Given the description of an element on the screen output the (x, y) to click on. 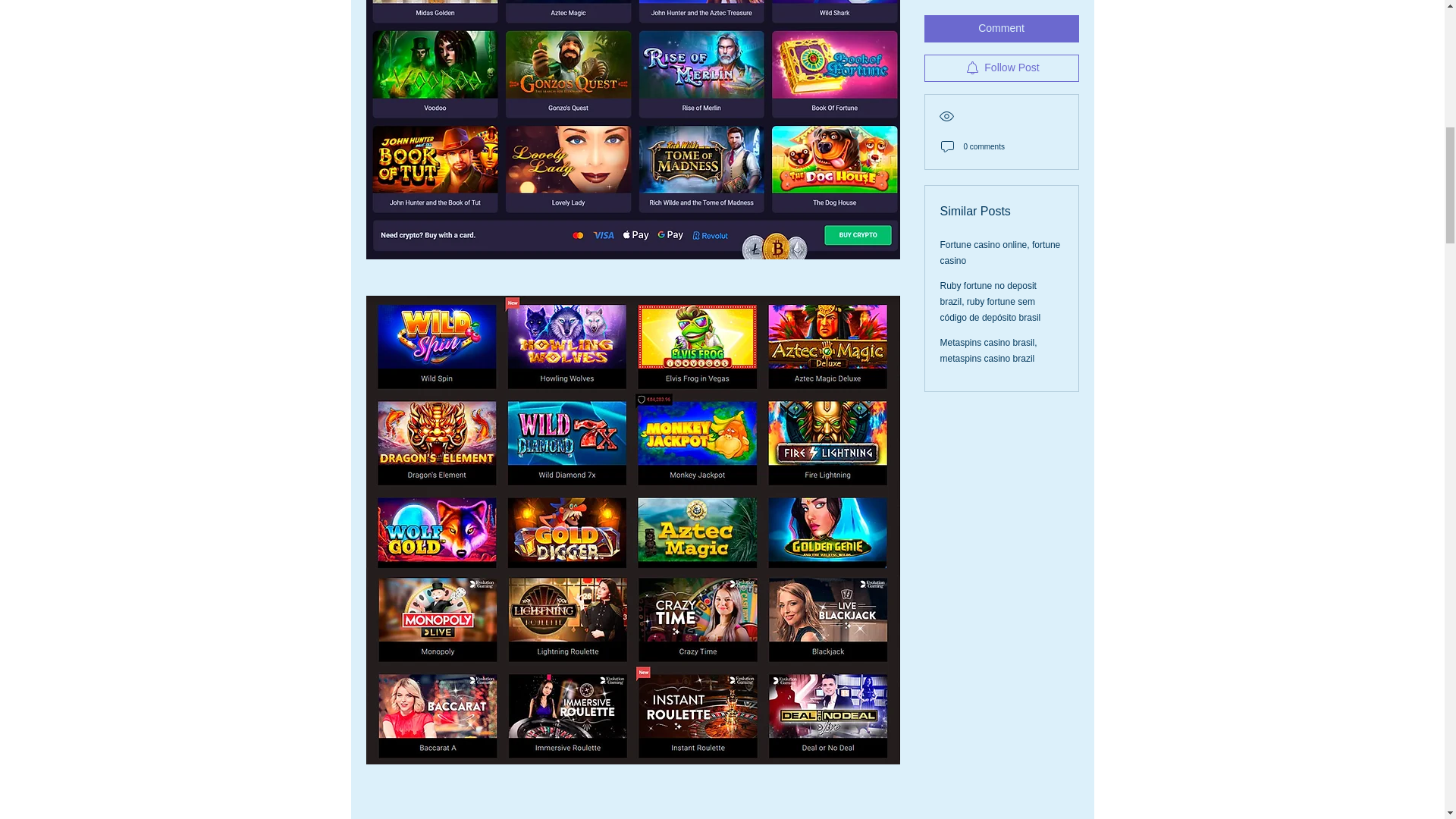
Metaspins casino brasil, metaspins casino brazil (988, 26)
